Given the description of an element on the screen output the (x, y) to click on. 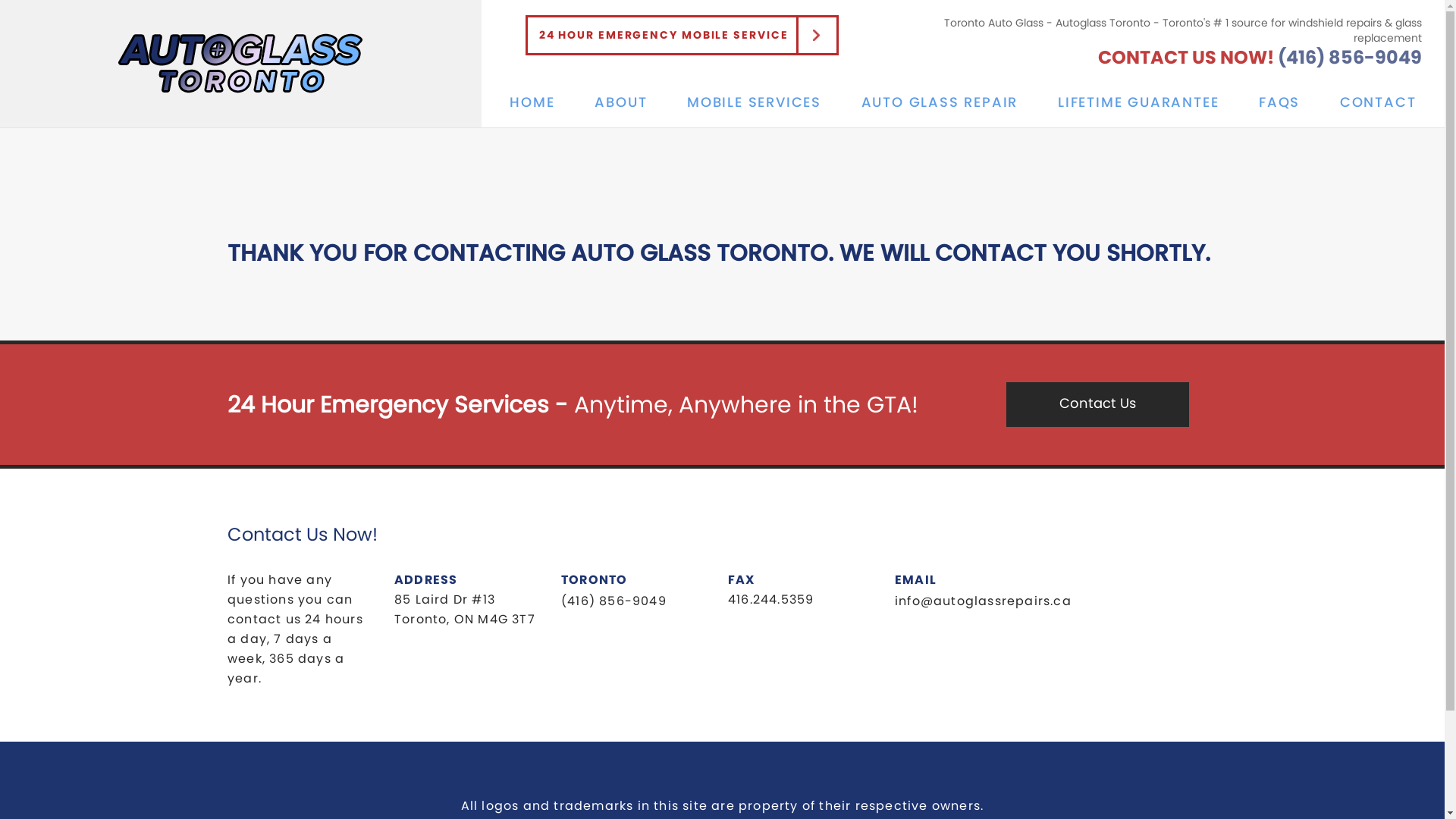
Contact Us Element type: text (1097, 404)
(416) 856-9049 Element type: text (1349, 56)
24 HOUR EMERGENCY MOBILE SERVICE Element type: text (682, 35)
FAQS Element type: text (1278, 102)
CONTACT Element type: text (1377, 102)
AUTO GLASS REPAIR Element type: text (939, 102)
info@autoglassrepairs.ca Element type: text (982, 600)
(416) 856-9049 Element type: text (613, 600)
LIFETIME GUARANTEE Element type: text (1137, 102)
ABOUT Element type: text (620, 102)
HOME Element type: text (531, 102)
MOBILE SERVICES Element type: text (754, 102)
